Given the description of an element on the screen output the (x, y) to click on. 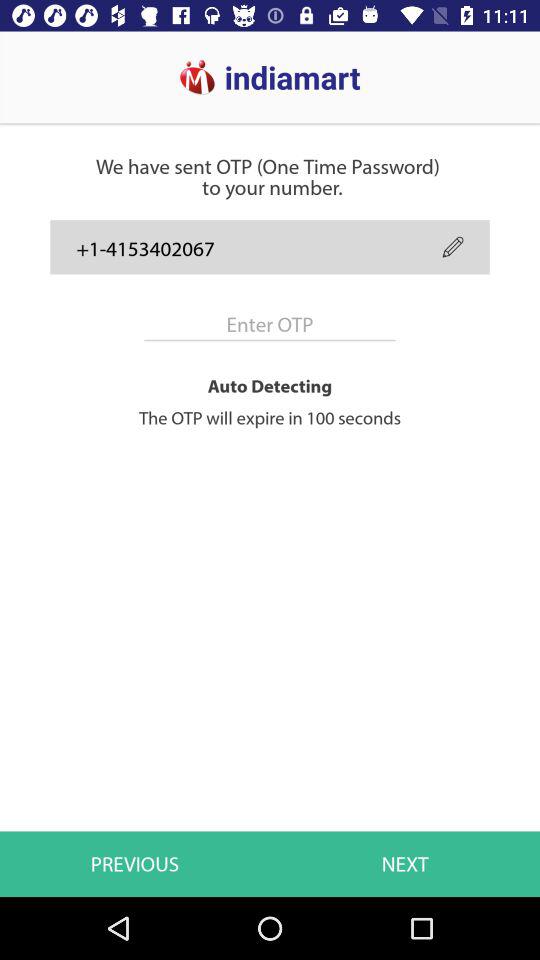
enter info (269, 324)
